Given the description of an element on the screen output the (x, y) to click on. 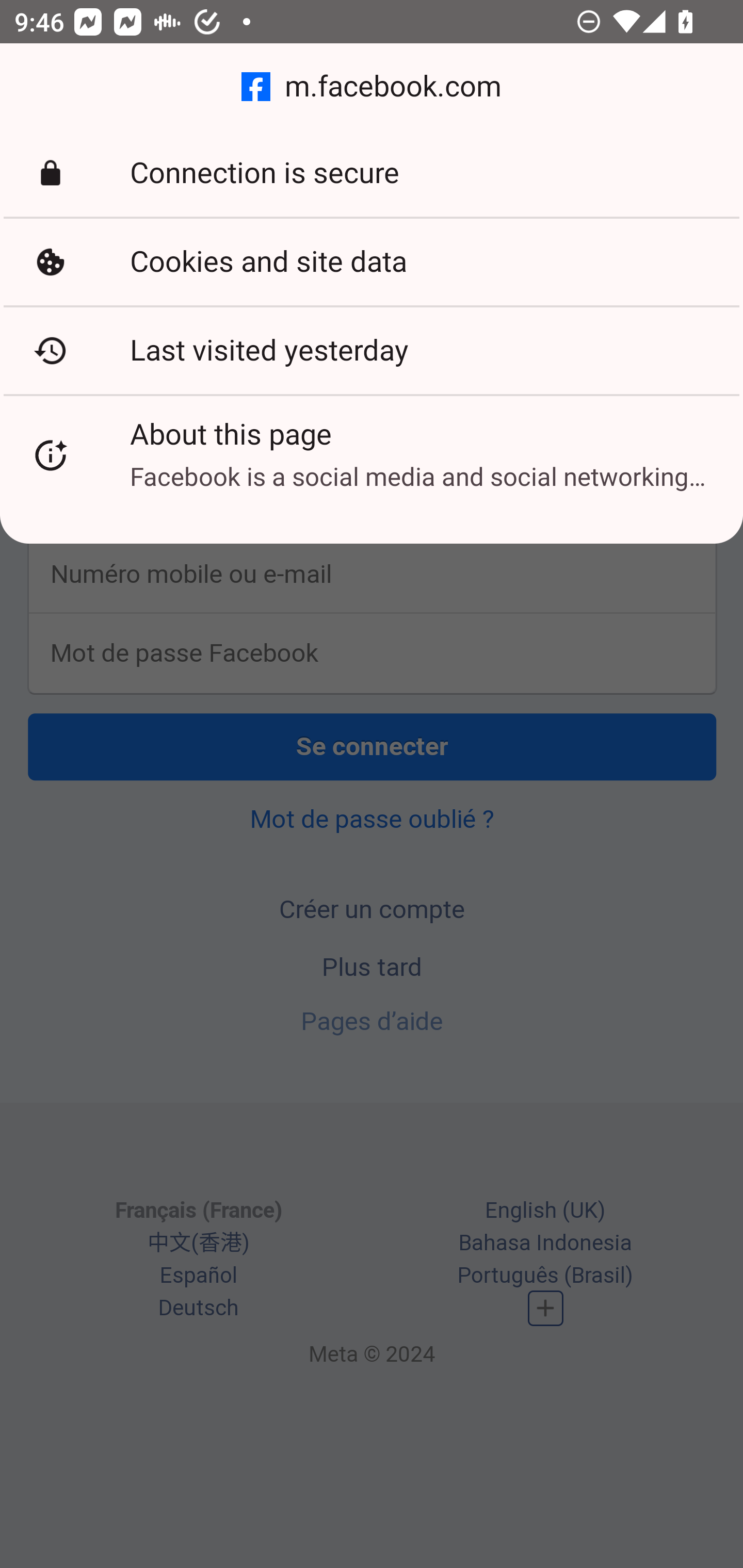
m.facebook.com (371, 86)
Connection is secure (371, 173)
Cookies and site data (371, 261)
Last visited yesterday (371, 350)
